Given the description of an element on the screen output the (x, y) to click on. 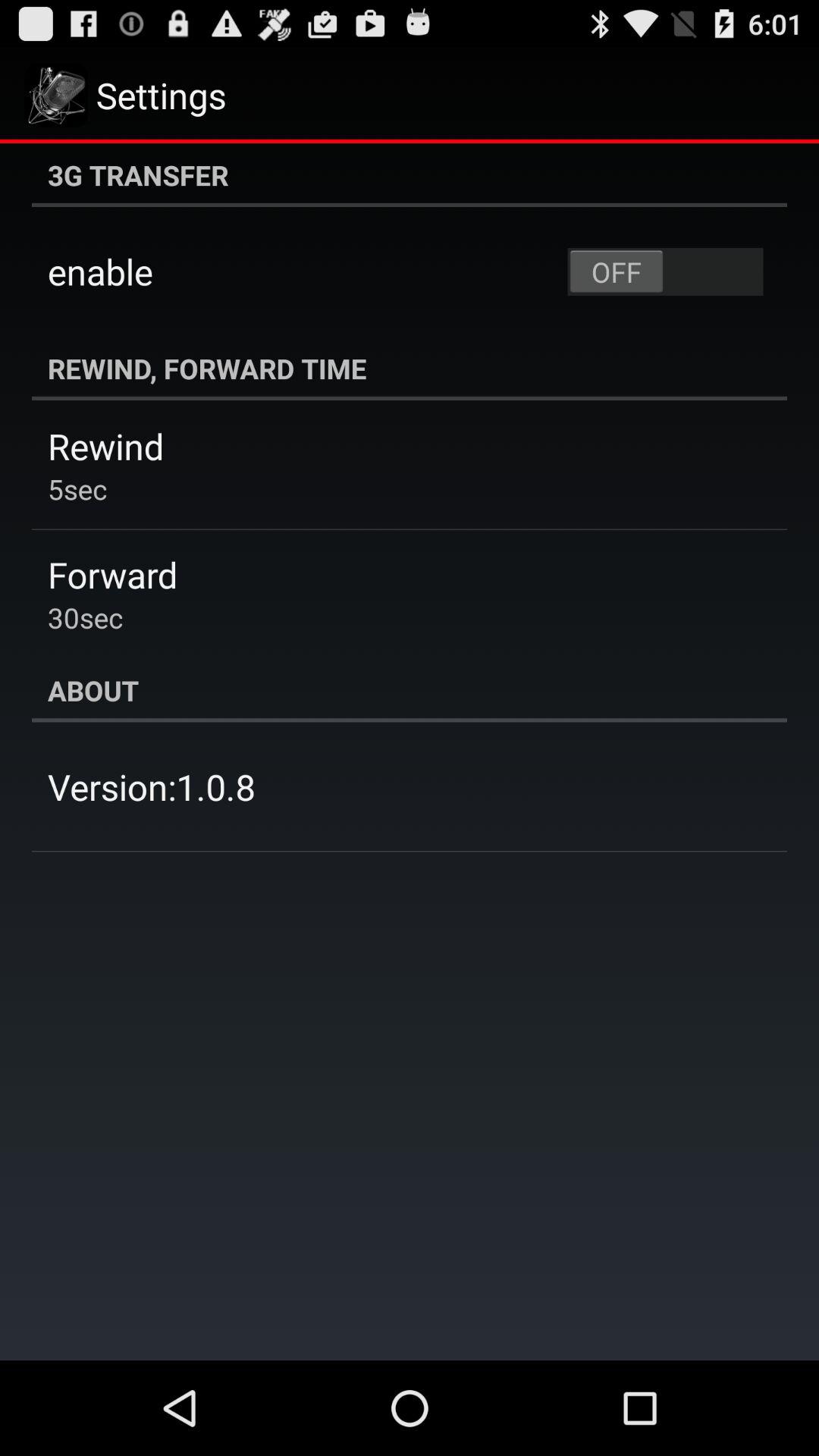
choose the icon next to enable app (665, 271)
